Given the description of an element on the screen output the (x, y) to click on. 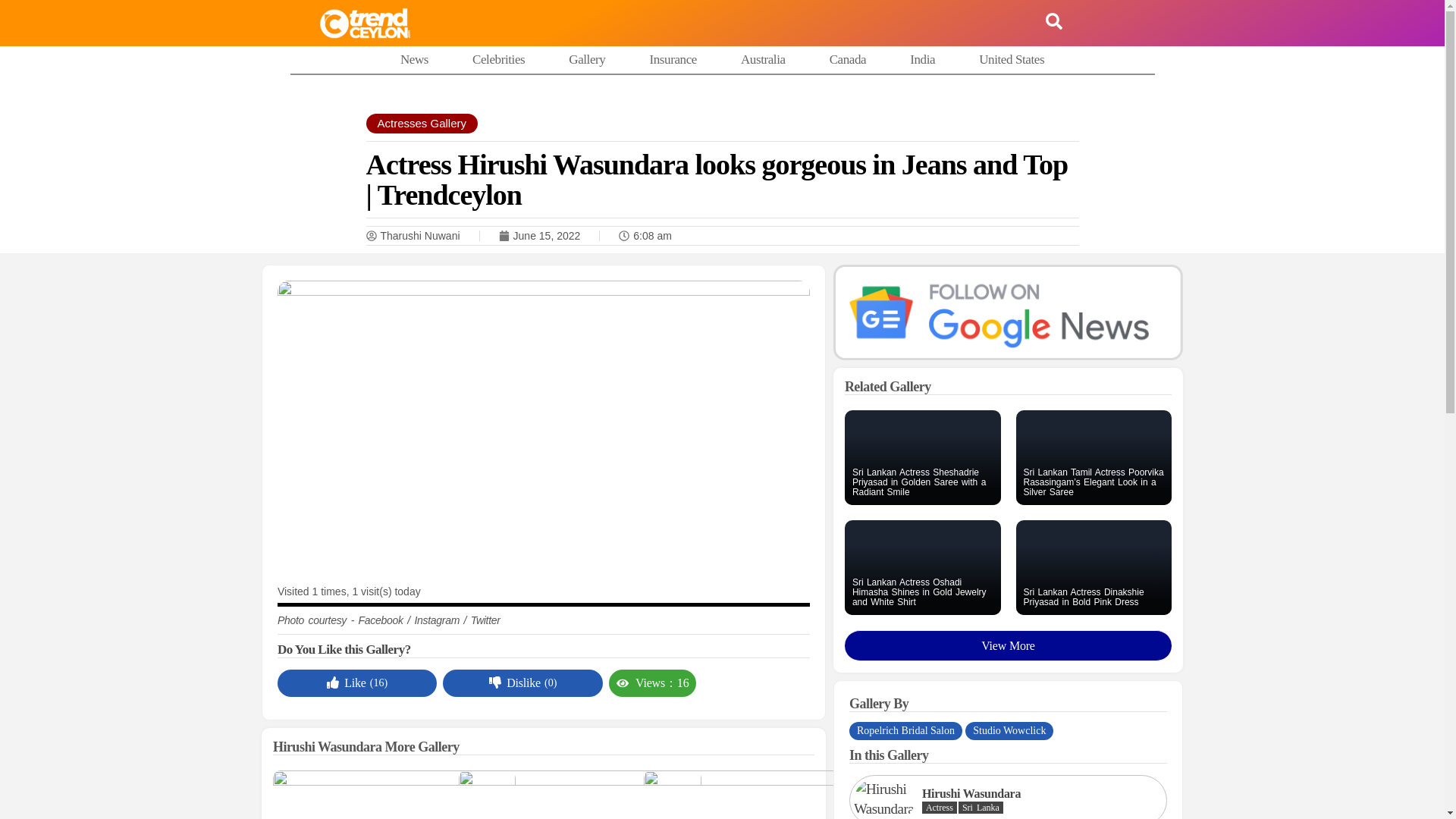
News (414, 59)
Trendceylon Site Logo 2024 (363, 22)
United States (1010, 59)
Canada (847, 59)
India (922, 59)
Insurance (672, 59)
Hirushi Wasundara 2206132335 29 (883, 799)
Celebrities (497, 59)
Australia (763, 59)
Gallery (587, 59)
